Given the description of an element on the screen output the (x, y) to click on. 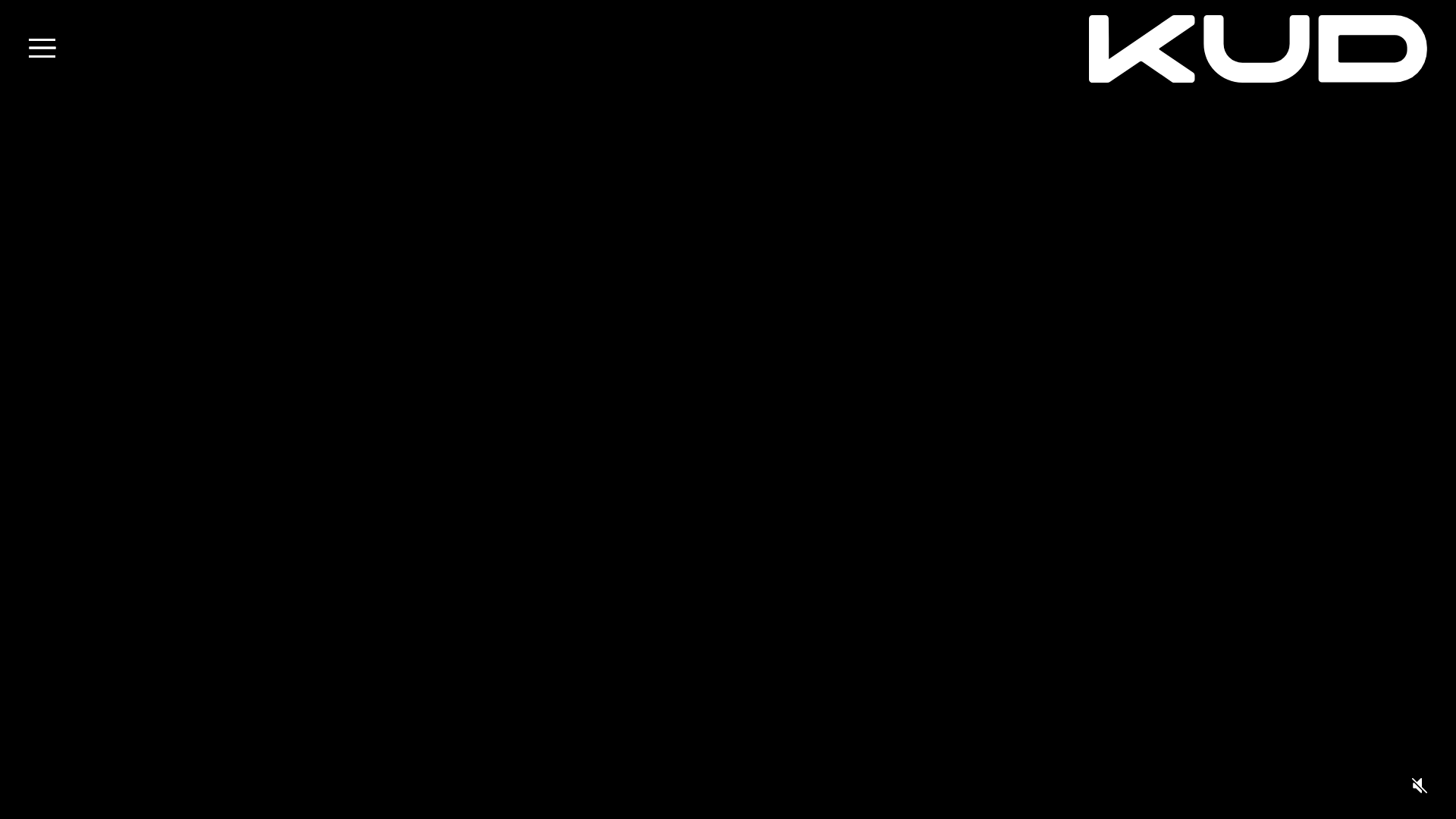
Menu Element type: text (41, 47)
